Given the description of an element on the screen output the (x, y) to click on. 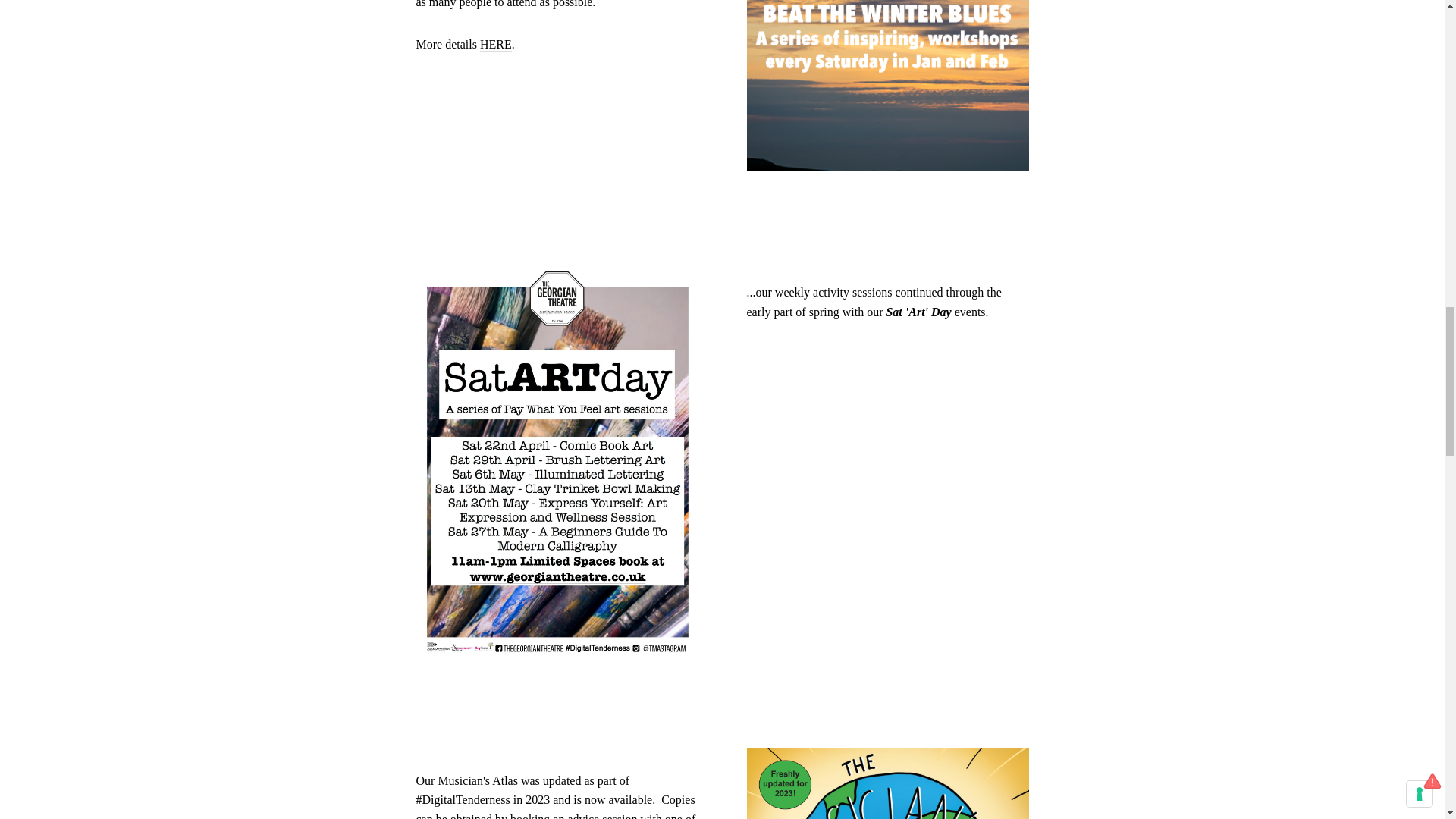
HERE (496, 44)
BTWB (496, 44)
